Given the description of an element on the screen output the (x, y) to click on. 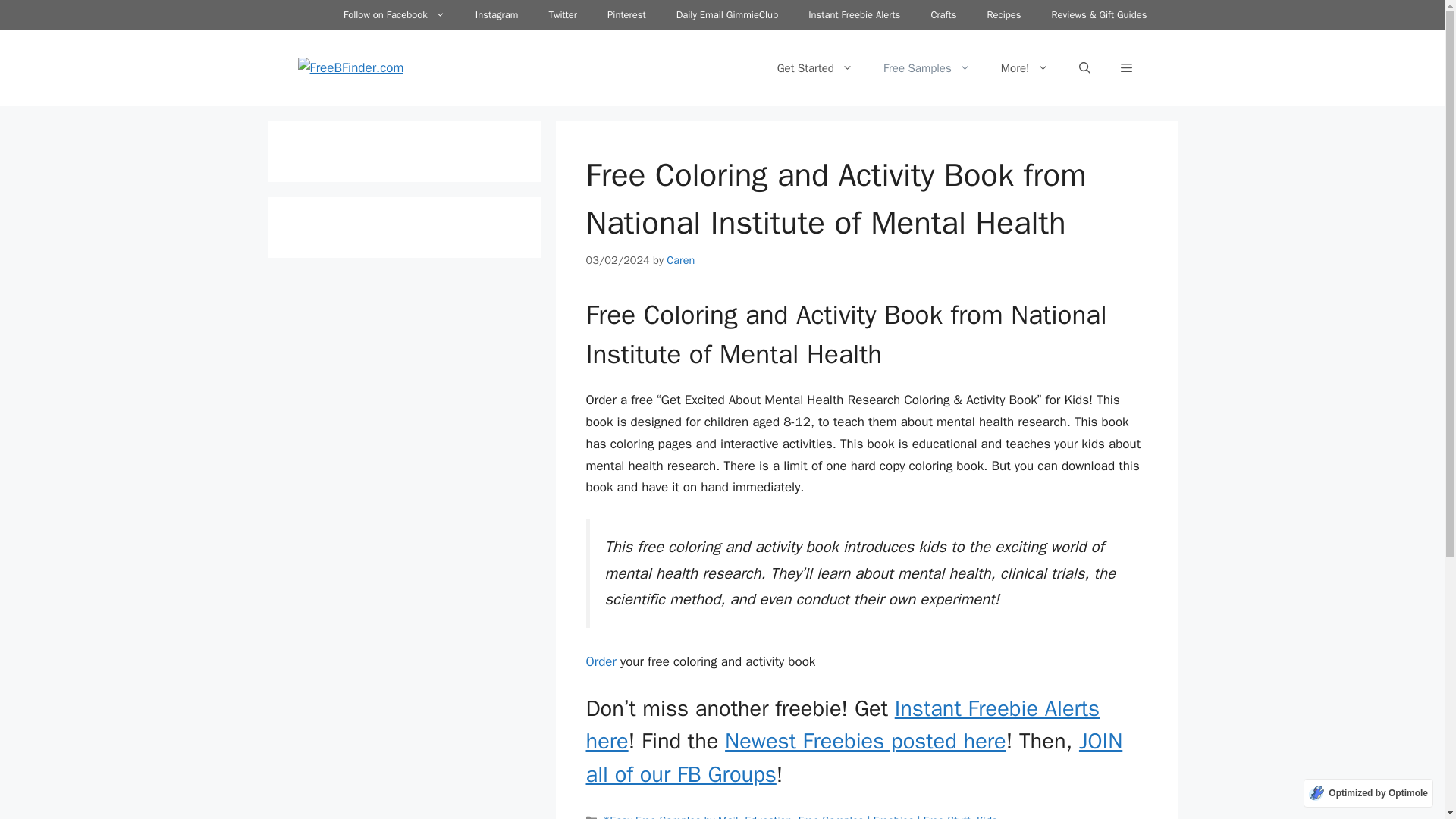
More! (1024, 71)
Twitter (562, 15)
Instant Freebie Alerts here (842, 731)
Pinterest (626, 15)
Crafts (943, 15)
Get Started (814, 71)
Order (600, 667)
Instant Freebie Alerts (854, 15)
Caren (680, 265)
Instagram (497, 15)
